Given the description of an element on the screen output the (x, y) to click on. 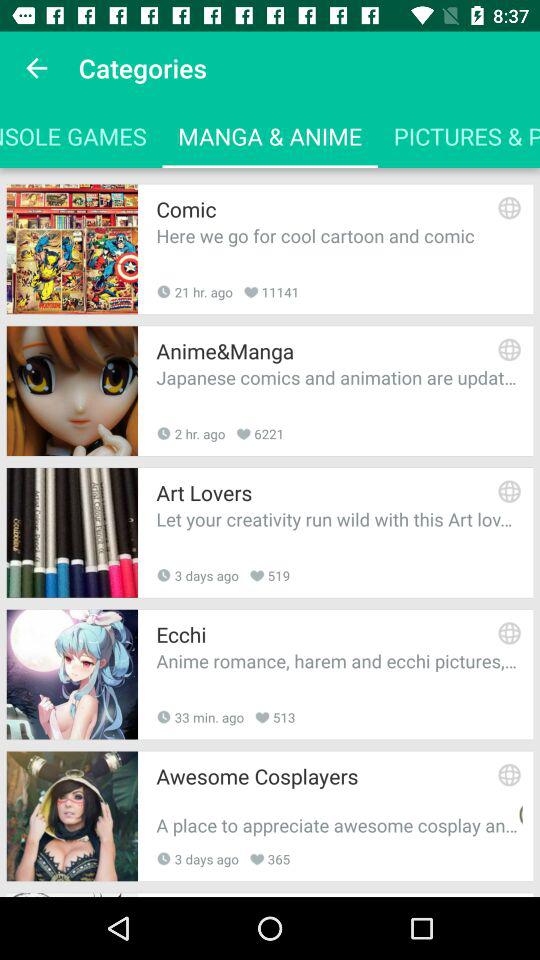
click on the first image (72, 249)
select the browse icon beside comic (509, 207)
click on the button beside art lovers (509, 491)
